Given the description of an element on the screen output the (x, y) to click on. 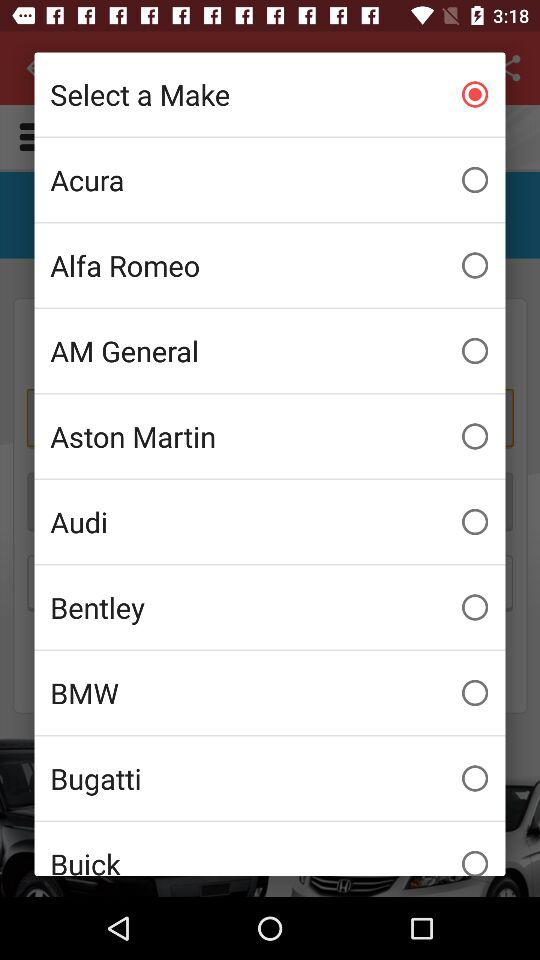
tap the icon below the acura (269, 265)
